Given the description of an element on the screen output the (x, y) to click on. 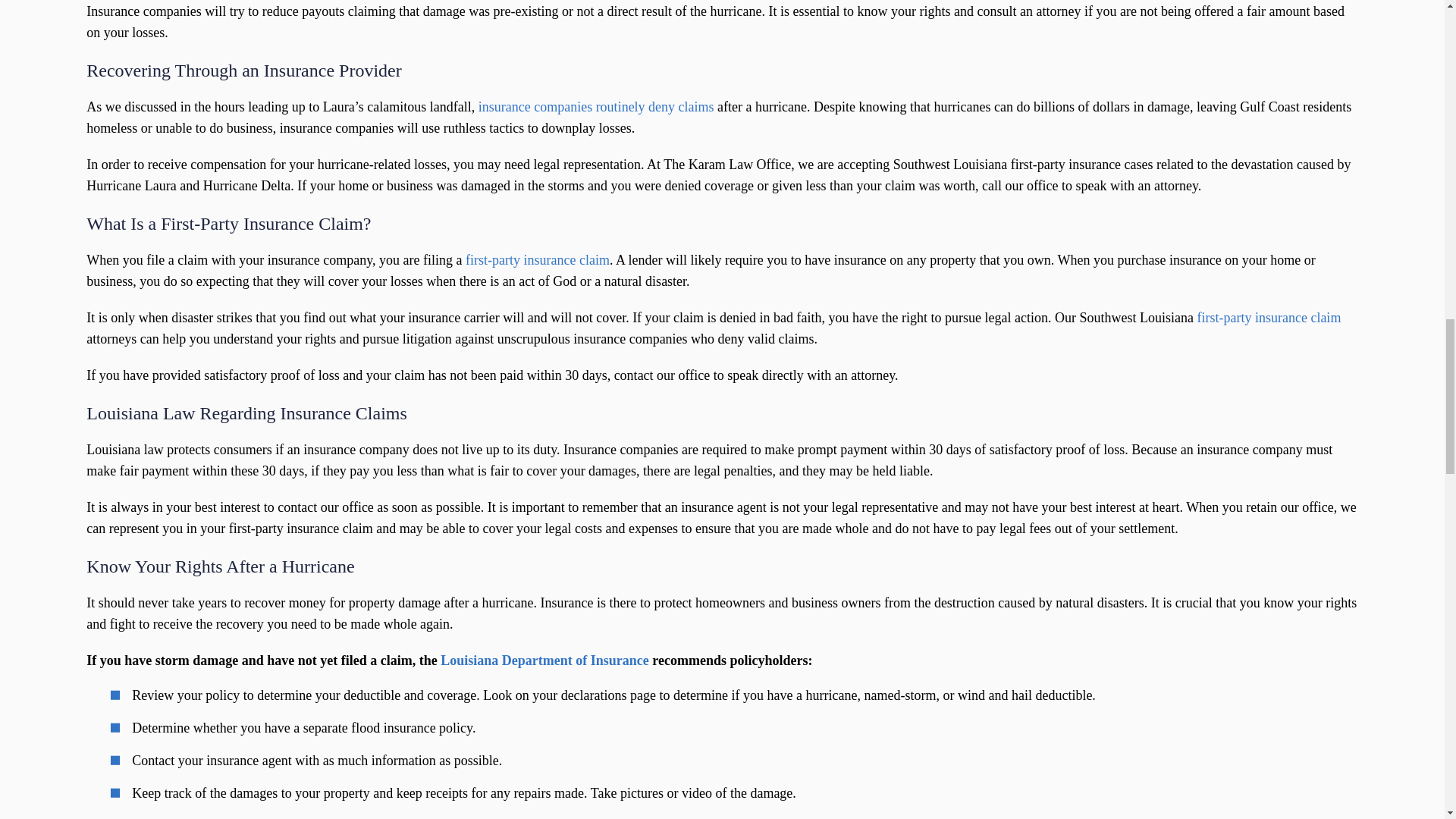
Louisiana Department of Insurance (545, 660)
first-party insurance claim (537, 259)
insurance companies routinely deny claims (596, 106)
first-party insurance claim (1268, 317)
first-party insurance claim (1268, 317)
